Given the description of an element on the screen output the (x, y) to click on. 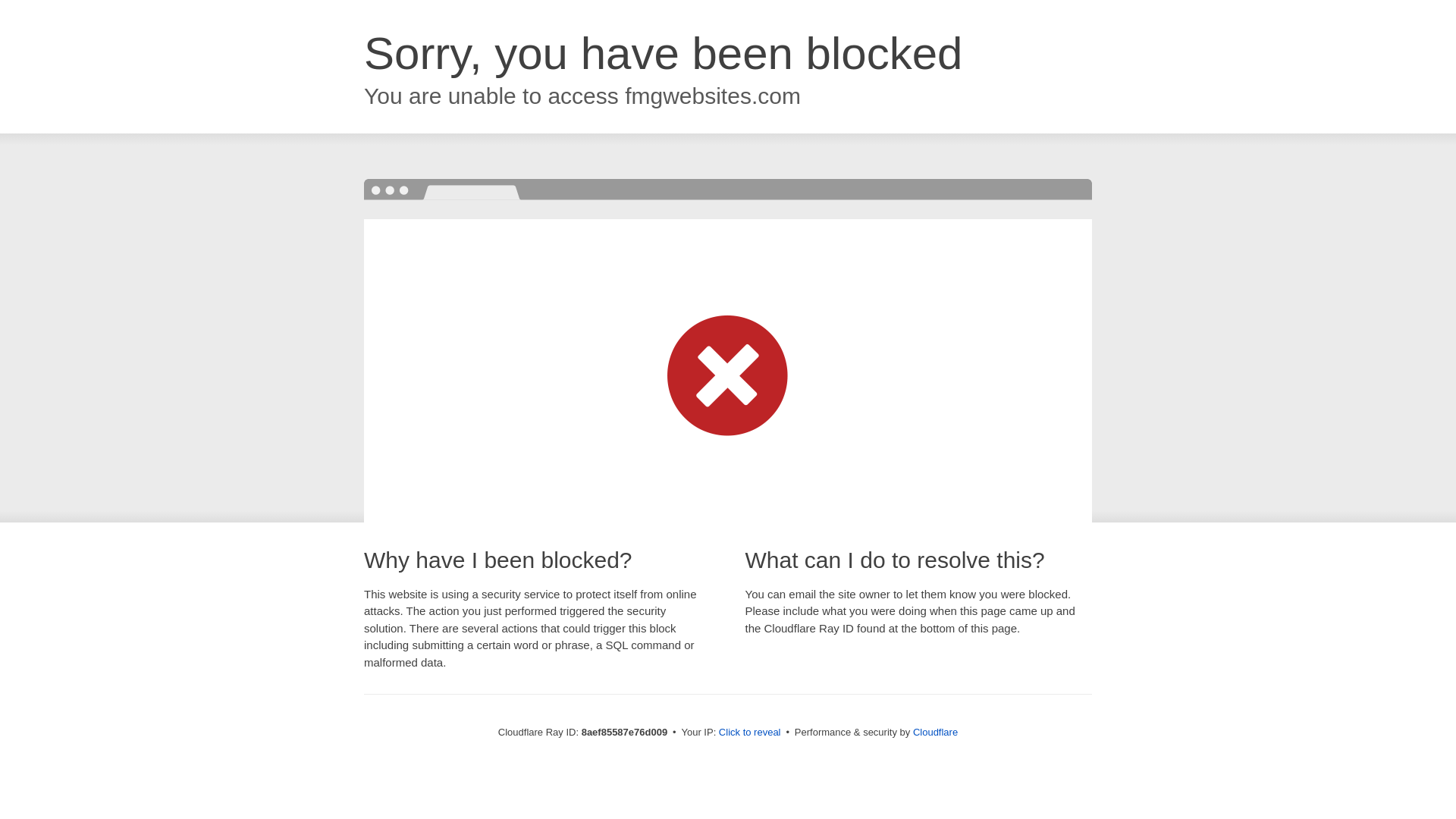
Click to reveal (749, 732)
Cloudflare (935, 731)
